Given the description of an element on the screen output the (x, y) to click on. 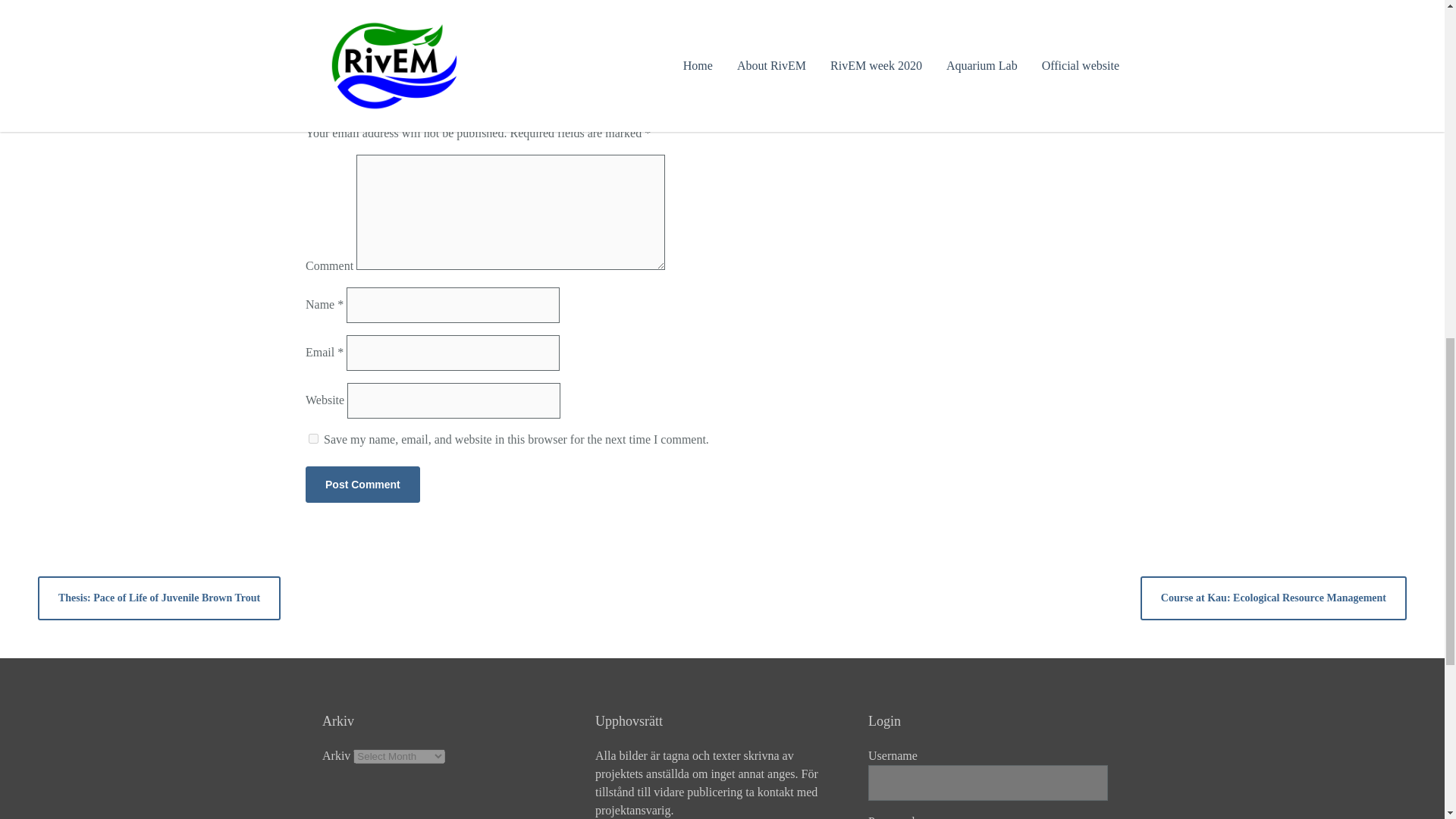
Post Comment (362, 484)
Thesis: Pace of Life of Juvenile Brown Trout (159, 597)
leave a response (399, 22)
trackback (481, 22)
Course at Kau: Ecological Resource Management (1273, 597)
yes (313, 438)
Post Comment (362, 484)
